Given the description of an element on the screen output the (x, y) to click on. 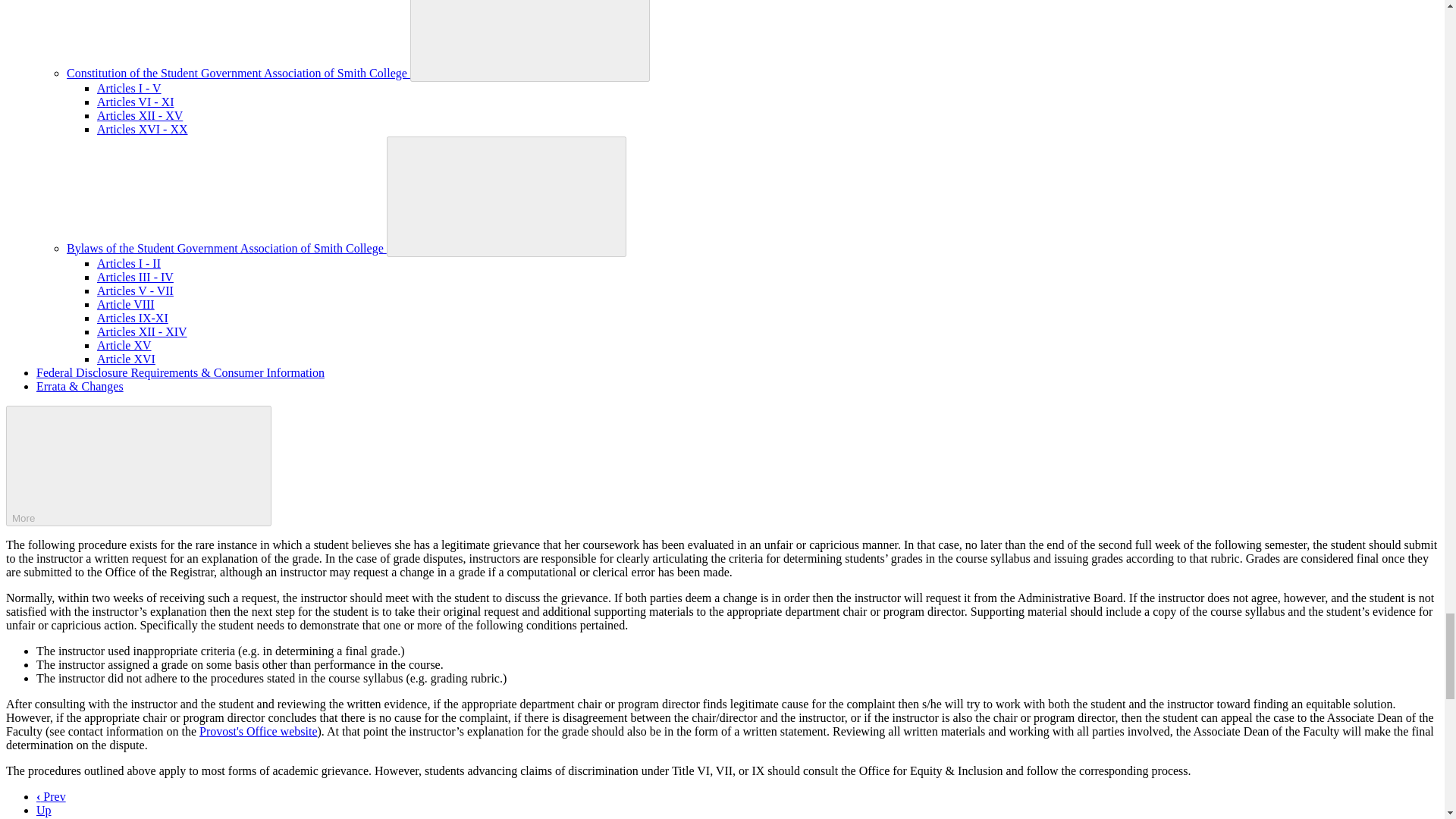
Go to parent page (43, 809)
Go to next page (51, 818)
More (137, 465)
Go to previous page (50, 796)
